Given the description of an element on the screen output the (x, y) to click on. 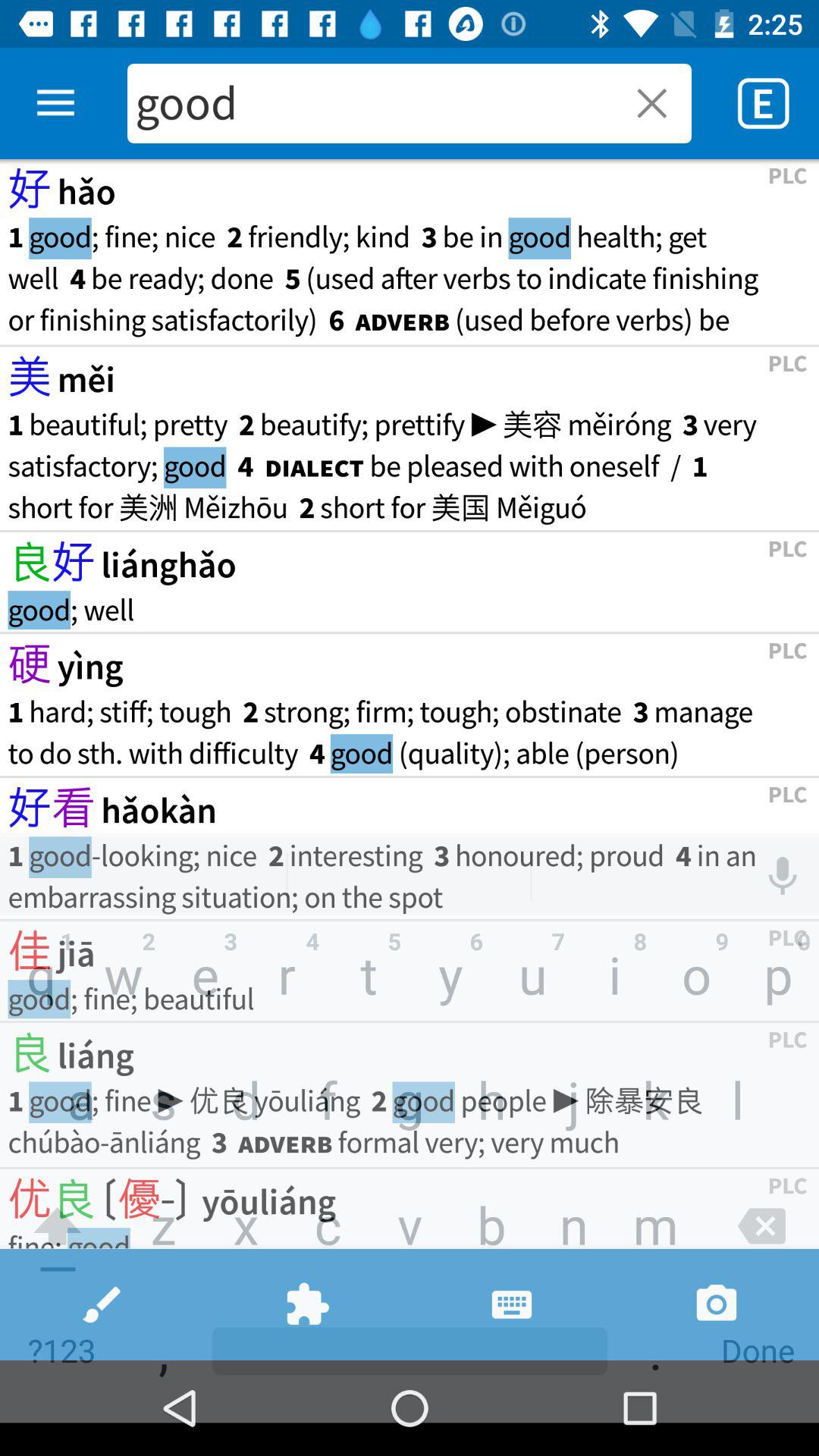
click on icon on the right side of good (643, 103)
